Given the description of an element on the screen output the (x, y) to click on. 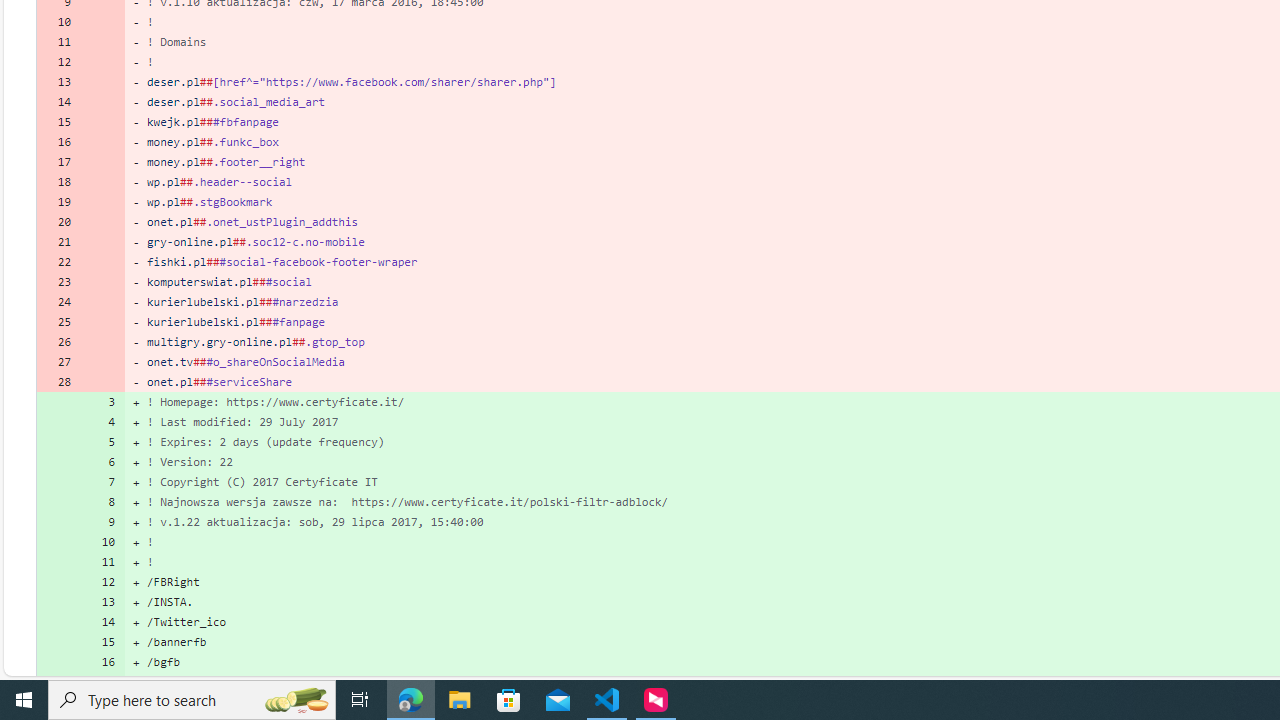
14 (102, 622)
22 (58, 261)
10 (102, 542)
21 (58, 241)
11 (102, 561)
17 (102, 681)
6 (102, 462)
5 (102, 442)
12 (102, 581)
3 (102, 401)
18 (58, 182)
15 (102, 642)
Class: blob-num blob-num-addition empty-cell (58, 681)
25 (58, 321)
9 (102, 521)
